Given the description of an element on the screen output the (x, y) to click on. 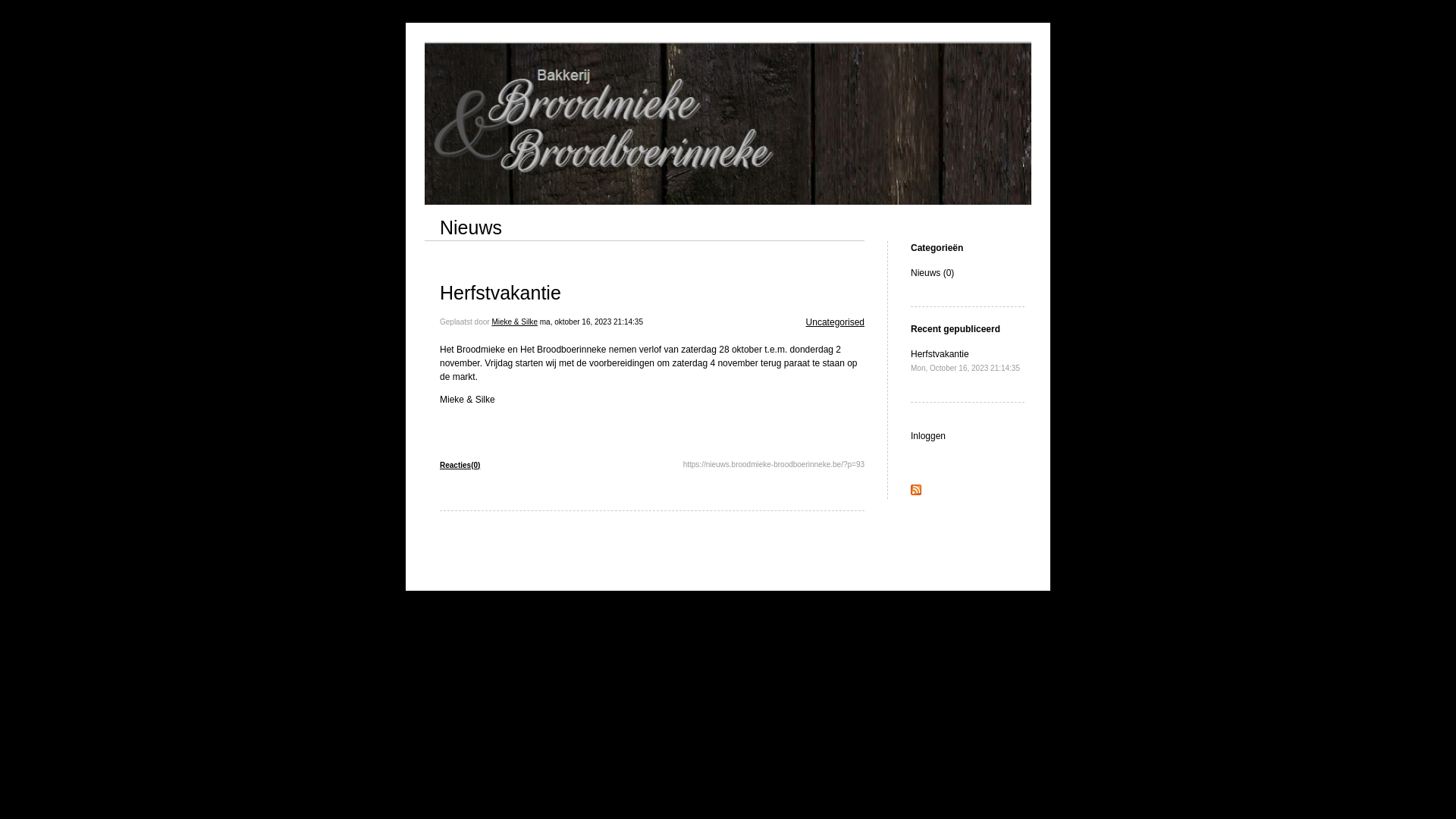
Herfstvakantie Element type: text (500, 292)
ma, oktober 16, 2023 21:14:35 Element type: text (591, 321)
Mieke & Silke Element type: text (514, 321)
Nieuws Element type: text (470, 227)
Uncategorised Element type: text (835, 322)
RSS 2.0 Element type: hover (915, 491)
Reacties(0) Element type: text (459, 465)
Nieuws (0) Element type: text (931, 272)
Inloggen Element type: text (927, 435)
Herfstvakantie
Mon, October 16, 2023 21:14:35 Element type: text (964, 360)
